Given the description of an element on the screen output the (x, y) to click on. 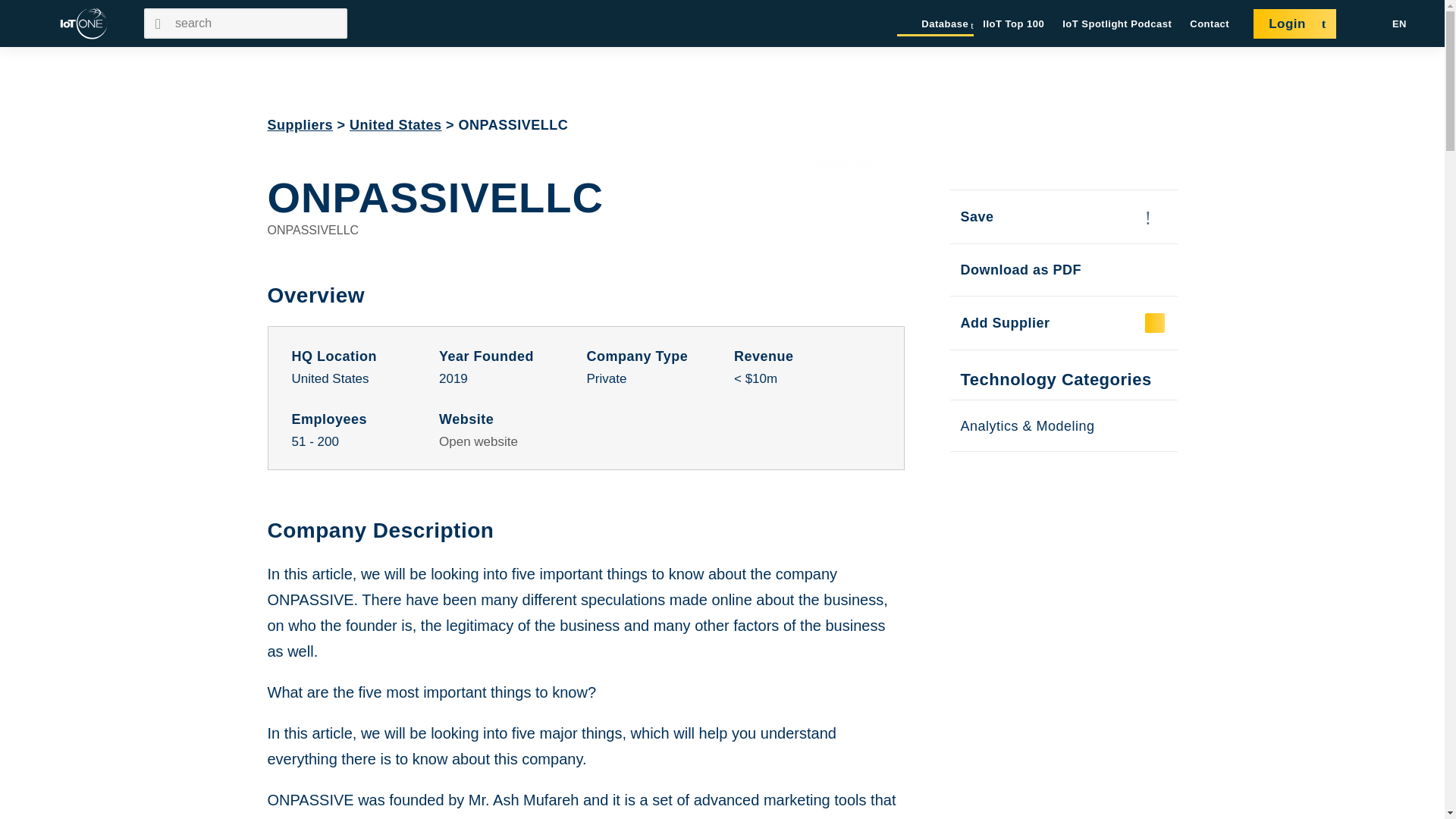
Suppliers (299, 124)
IoT Spotlight Podcast (1117, 23)
ONPASSIVELLC Logo (858, 204)
Contact (1209, 23)
IIoT Top 100 (1013, 23)
United States (395, 124)
Open website (478, 441)
